Given the description of an element on the screen output the (x, y) to click on. 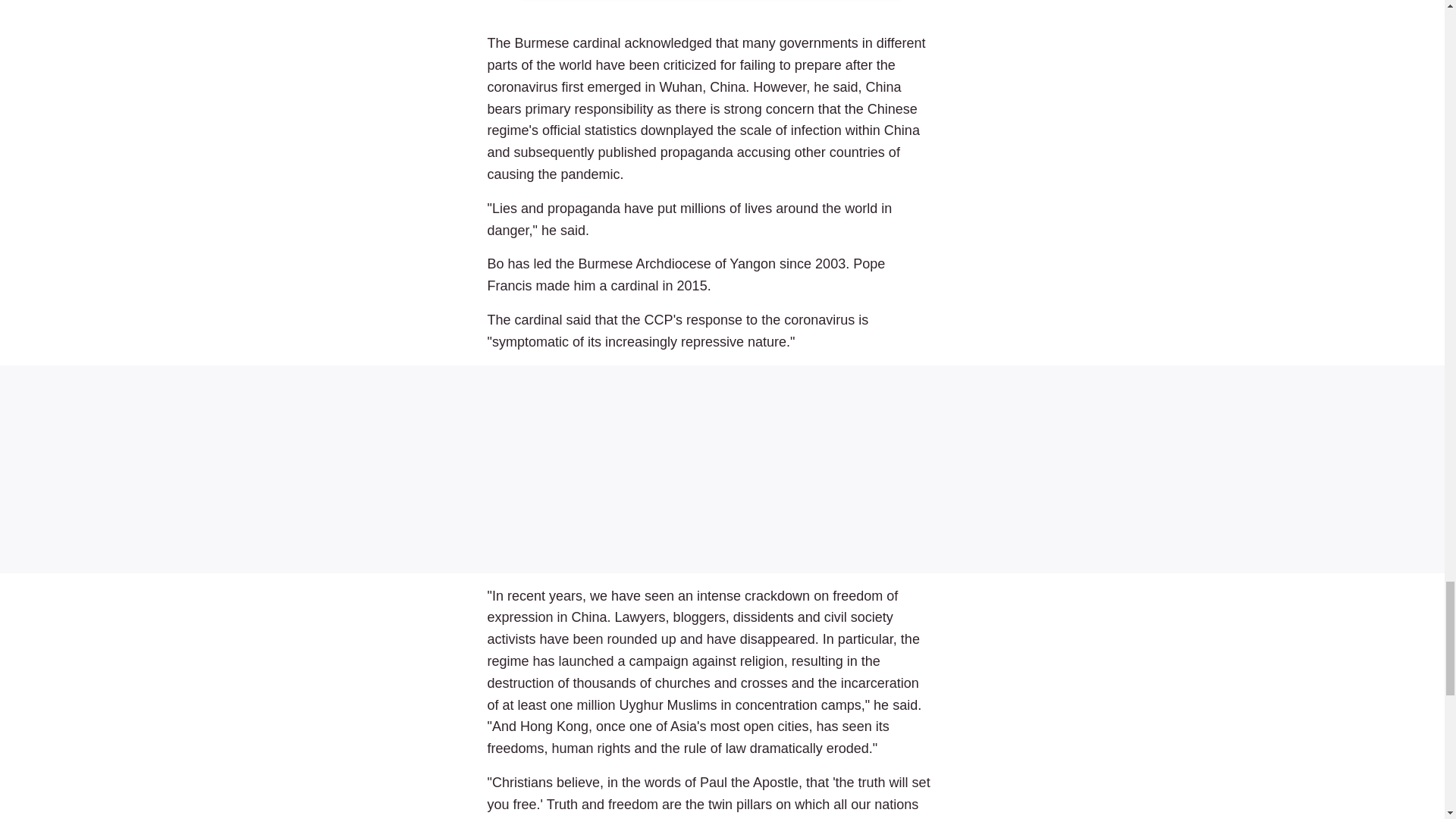
3rd party ad content (721, 469)
